Given the description of an element on the screen output the (x, y) to click on. 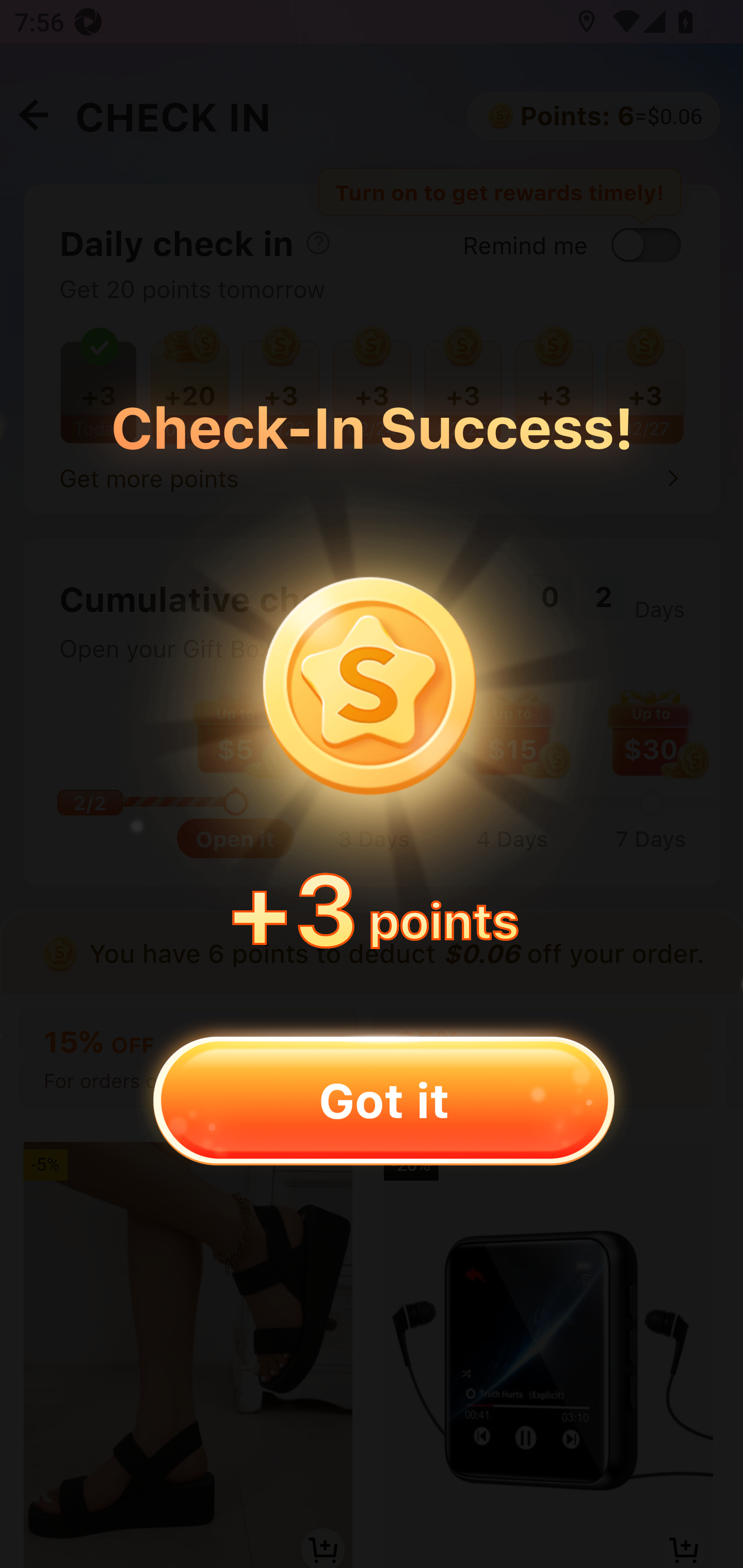
Got it (383, 1099)
